Given the description of an element on the screen output the (x, y) to click on. 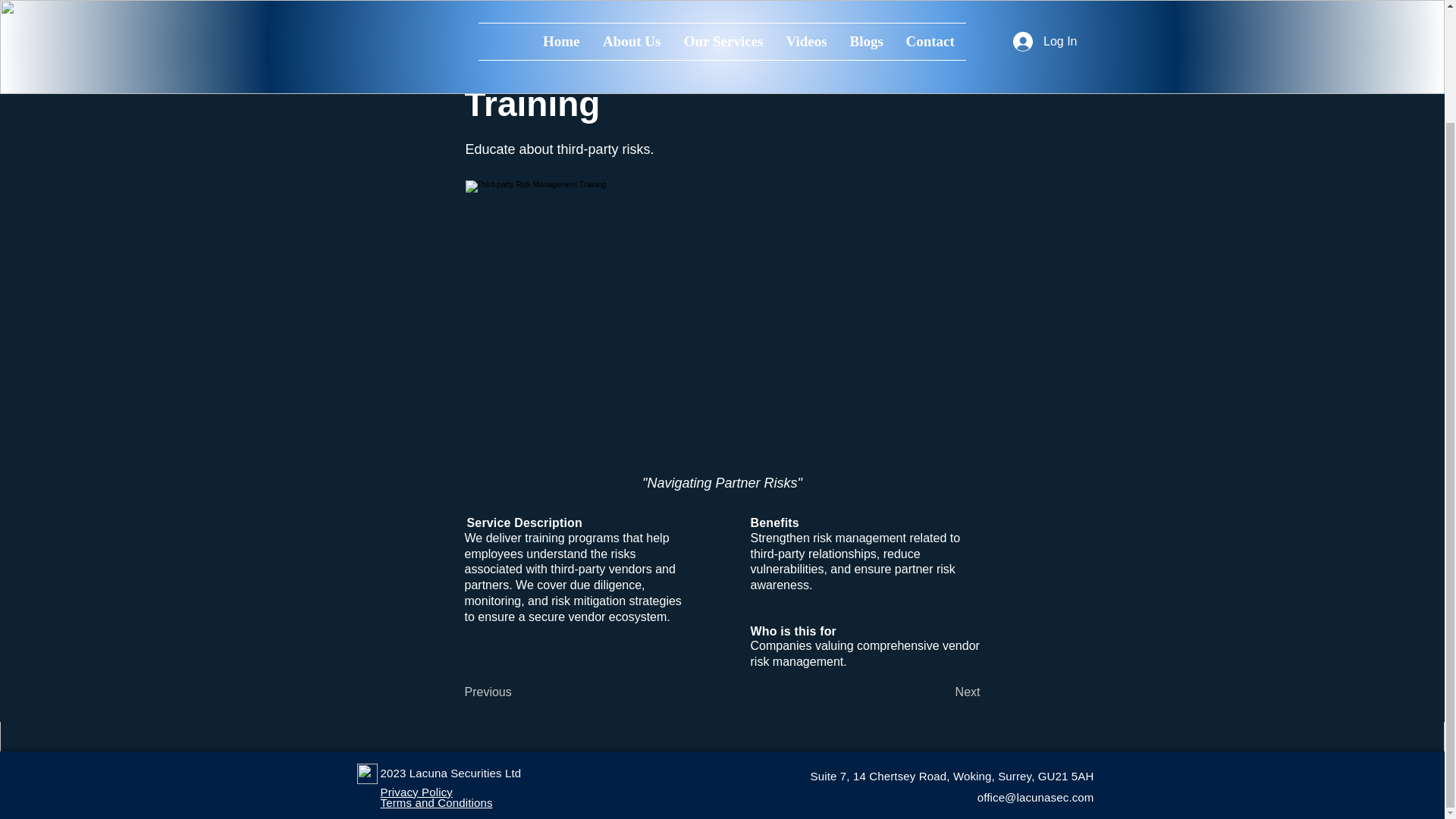
Previous (514, 693)
Next (941, 693)
copyright.png (366, 773)
Privacy Policy (416, 791)
Terms and Conditions (436, 802)
